Given the description of an element on the screen output the (x, y) to click on. 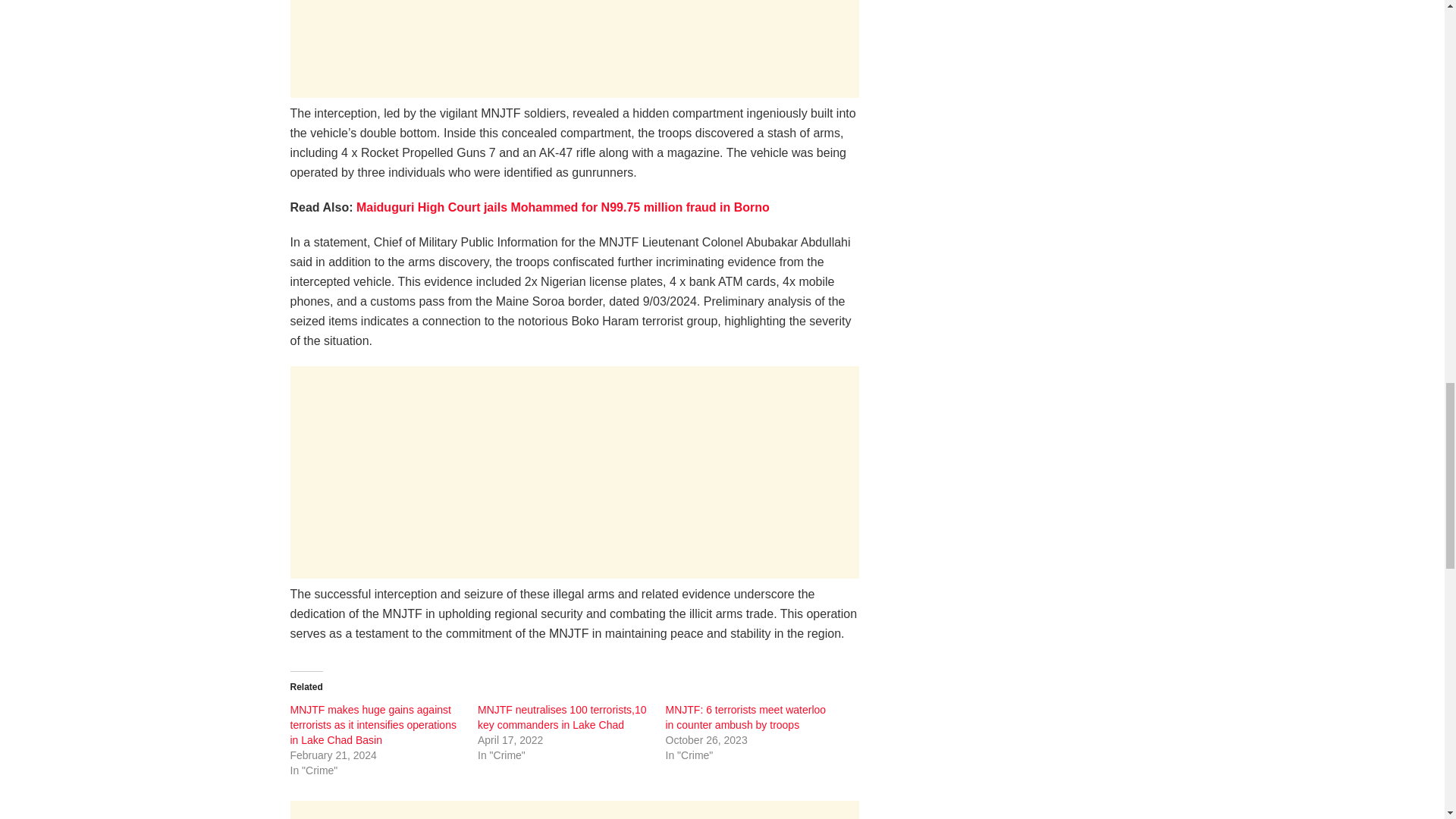
Advertisement (574, 48)
Advertisement (574, 809)
Advertisement (574, 472)
